Given the description of an element on the screen output the (x, y) to click on. 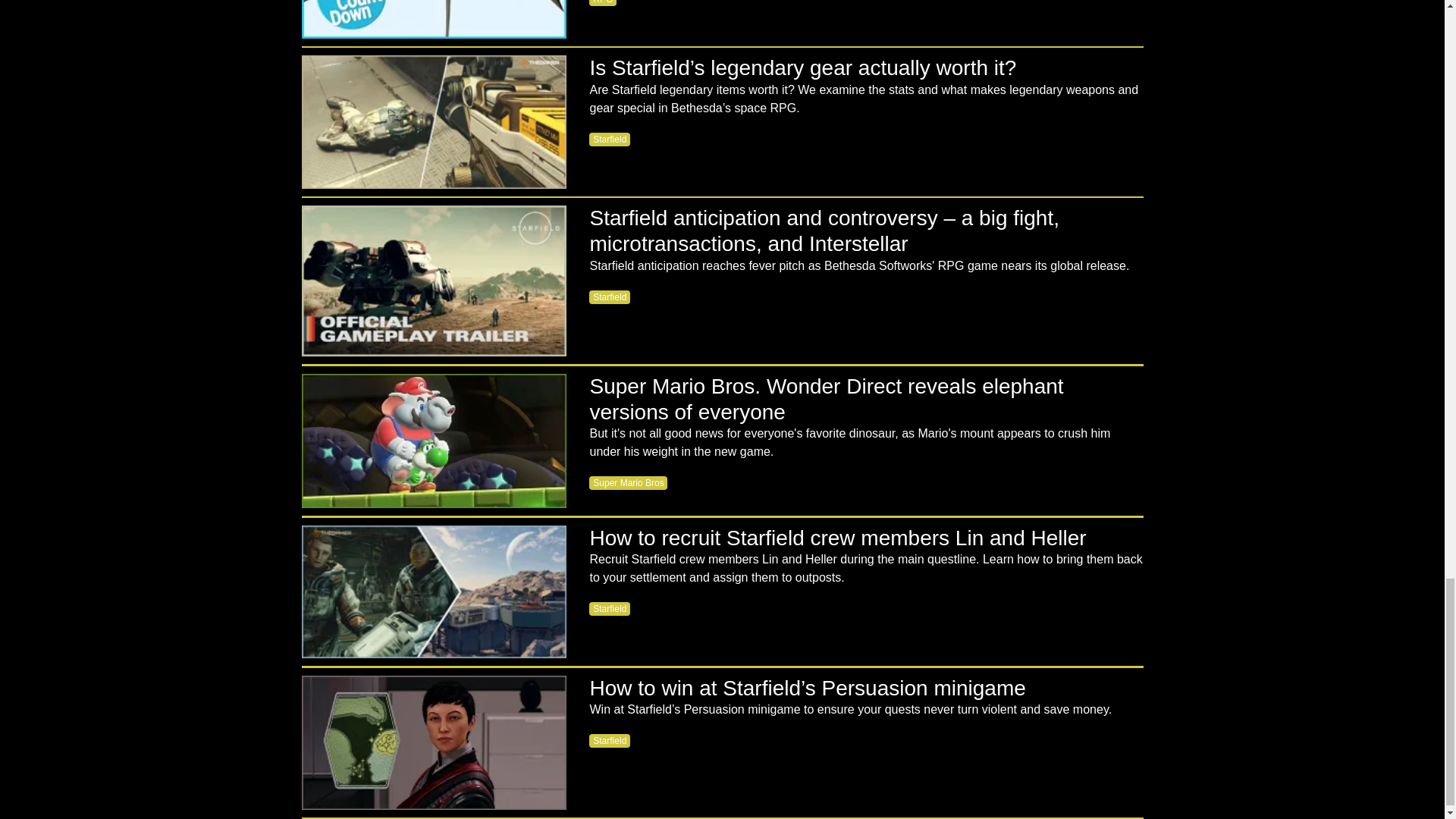
Starfield (609, 139)
Starfield (609, 296)
RPG (602, 2)
Super Mario Bros (627, 482)
